Given the description of an element on the screen output the (x, y) to click on. 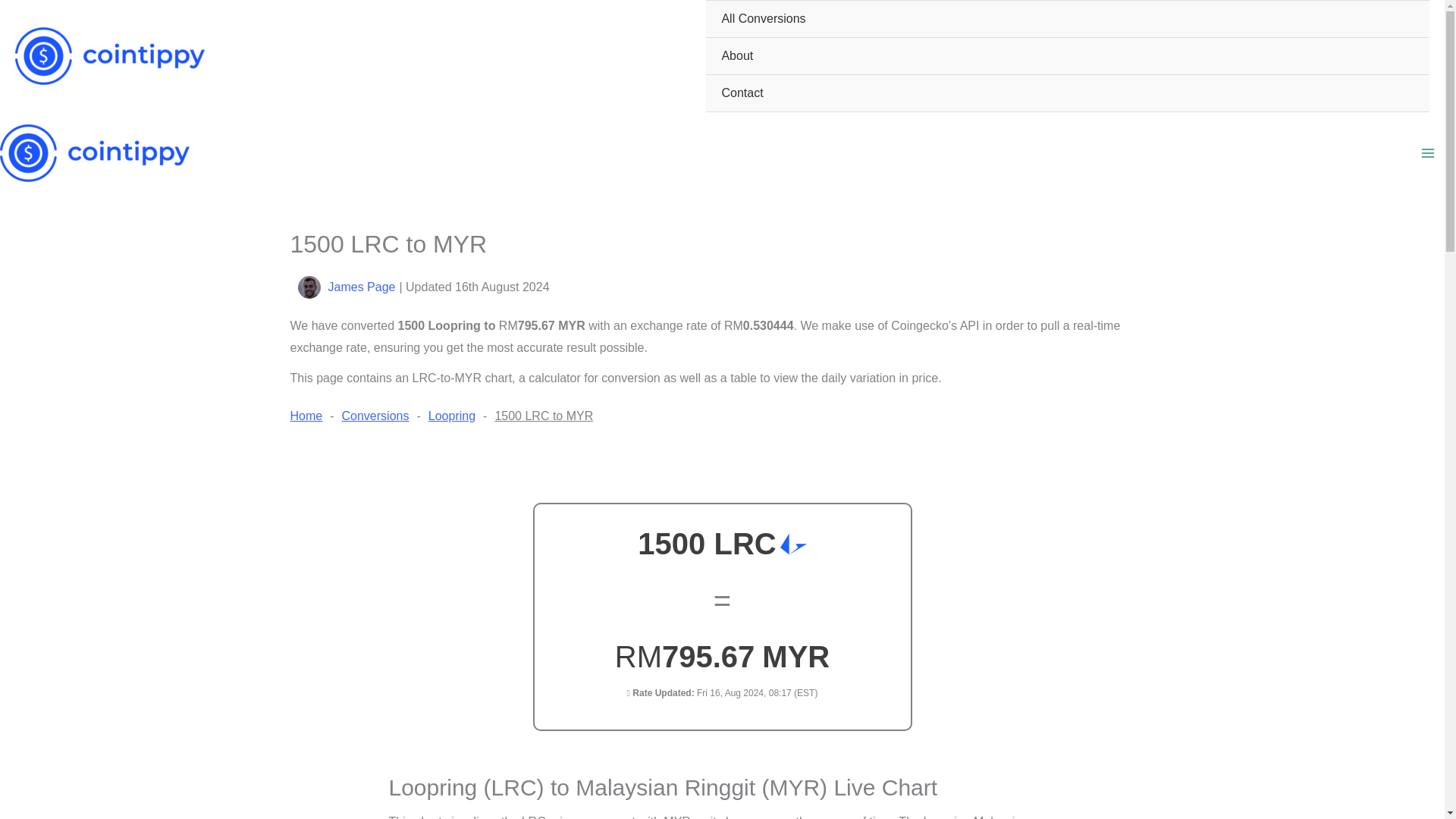
James Page (360, 287)
All Conversions (1067, 18)
Home (305, 415)
About (1067, 56)
Loopring (452, 415)
Conversions (375, 415)
Contact (1067, 93)
